Given the description of an element on the screen output the (x, y) to click on. 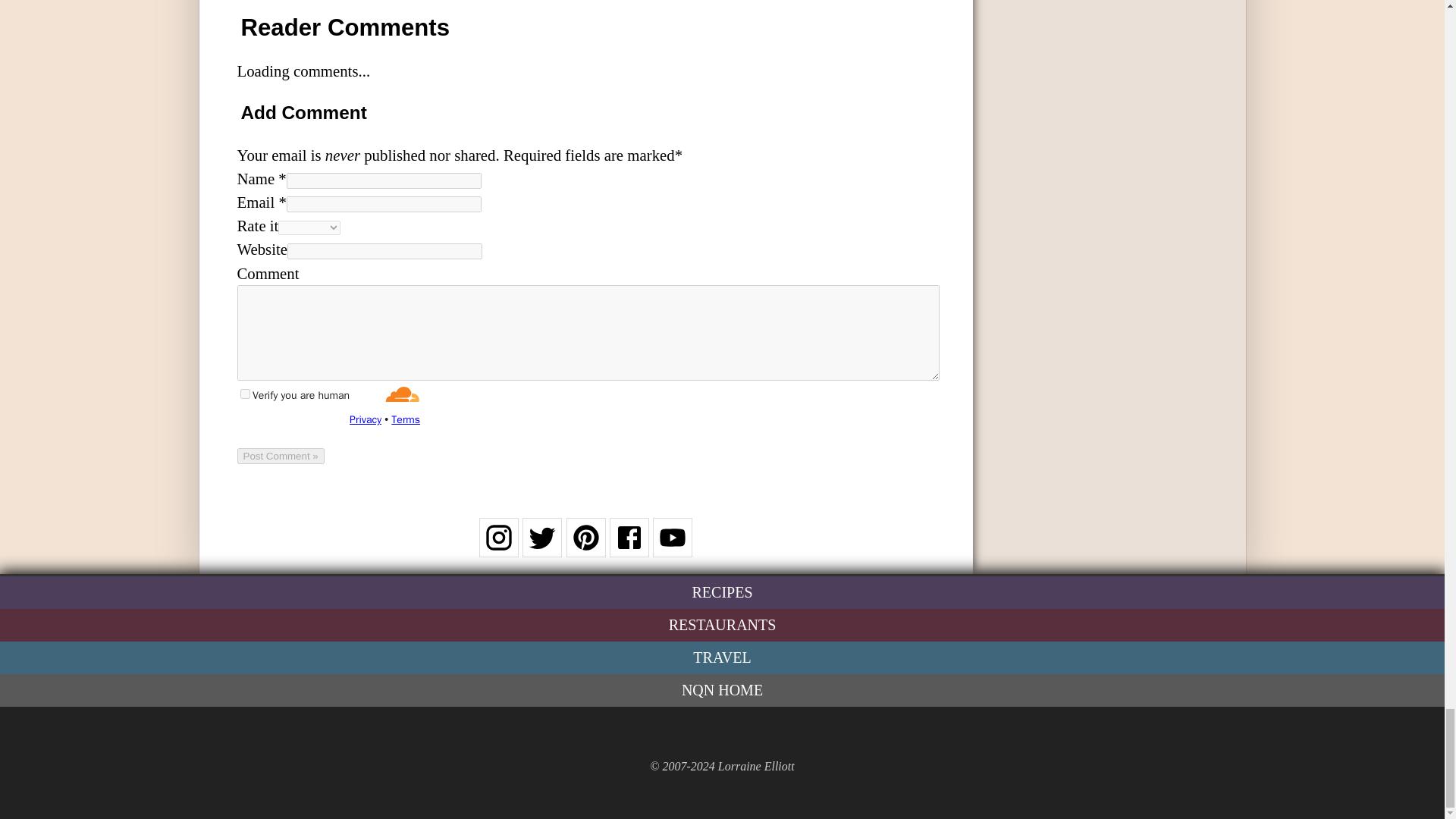
Follow on Twitter (542, 547)
Follow on YouTube (672, 547)
Follow on Facebook (629, 547)
Follow on Pinterest (584, 547)
Follow on Instagram (498, 547)
